Given the description of an element on the screen output the (x, y) to click on. 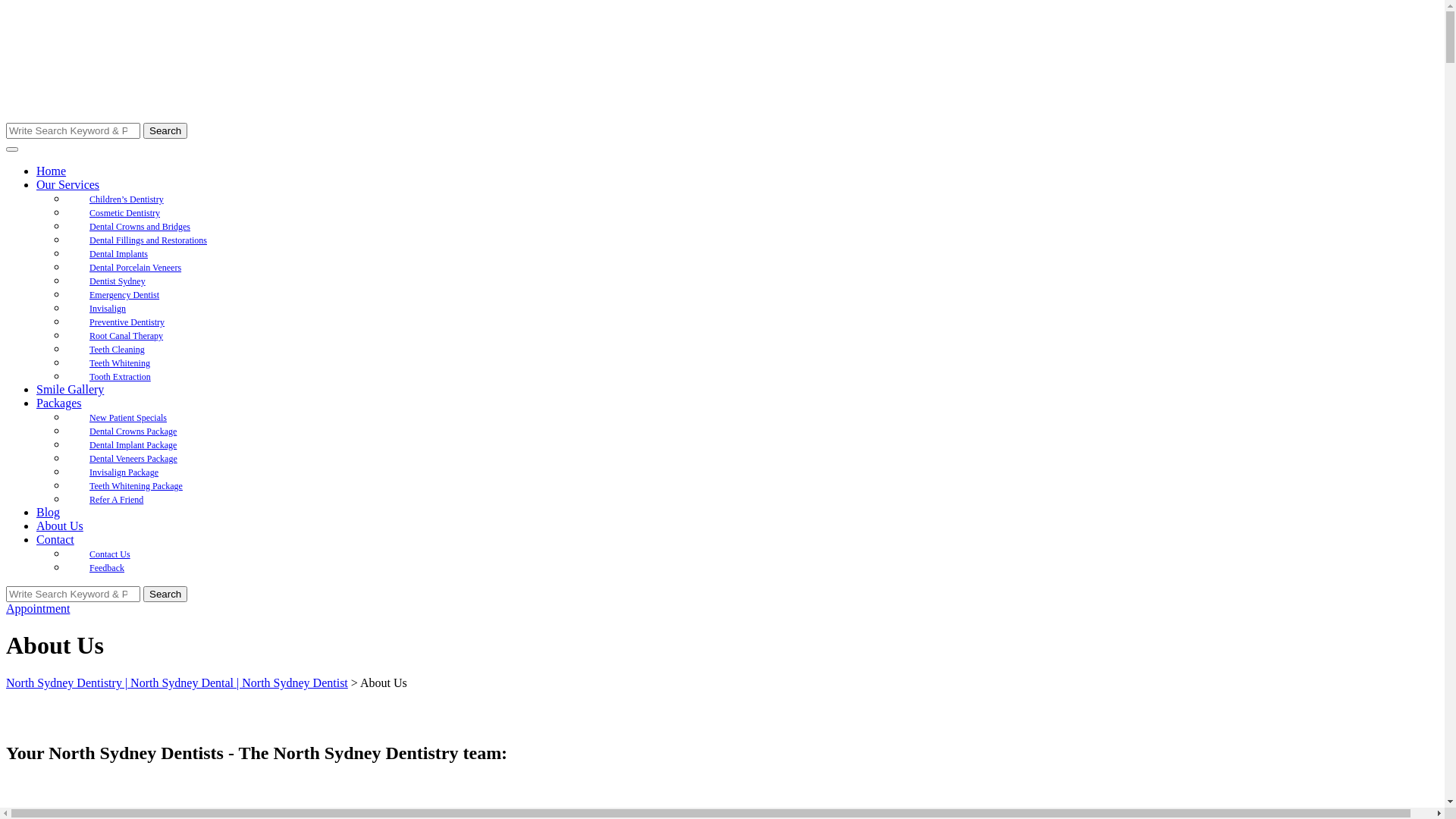
Our Services Element type: text (67, 184)
Dental Crowns Package Element type: text (132, 431)
Tooth Extraction Element type: text (119, 376)
Dentist Sydney Element type: text (117, 281)
Teeth Whitening Element type: text (119, 363)
Teeth Whitening Package Element type: text (135, 485)
Feedback Element type: text (106, 567)
Refer A Friend Element type: text (116, 499)
Dental Implant Package Element type: text (132, 445)
Cosmetic Dentistry Element type: text (124, 212)
Teeth Cleaning Element type: text (116, 349)
Search Element type: text (165, 594)
Smile Gallery Element type: text (69, 388)
Contact Element type: text (55, 539)
Invisalign Element type: text (107, 308)
Appointment Element type: text (37, 608)
Dental Porcelain Veneers Element type: text (134, 267)
Search Element type: text (165, 130)
Dental Implants Element type: text (118, 253)
New Patient Specials Element type: text (127, 417)
Invisalign Package Element type: text (123, 472)
Root Canal Therapy Element type: text (125, 335)
Emergency Dentist Element type: text (124, 294)
Skip to content Element type: text (5, 5)
Packages Element type: text (58, 402)
Dental Veneers Package Element type: text (133, 458)
Dental Fillings and Restorations Element type: text (147, 240)
Dental Crowns and Bridges Element type: text (139, 226)
Preventive Dentistry Element type: text (126, 322)
Contact Us Element type: text (109, 554)
Blog Element type: text (47, 511)
About Us Element type: text (59, 525)
Home Element type: text (50, 170)
